Given the description of an element on the screen output the (x, y) to click on. 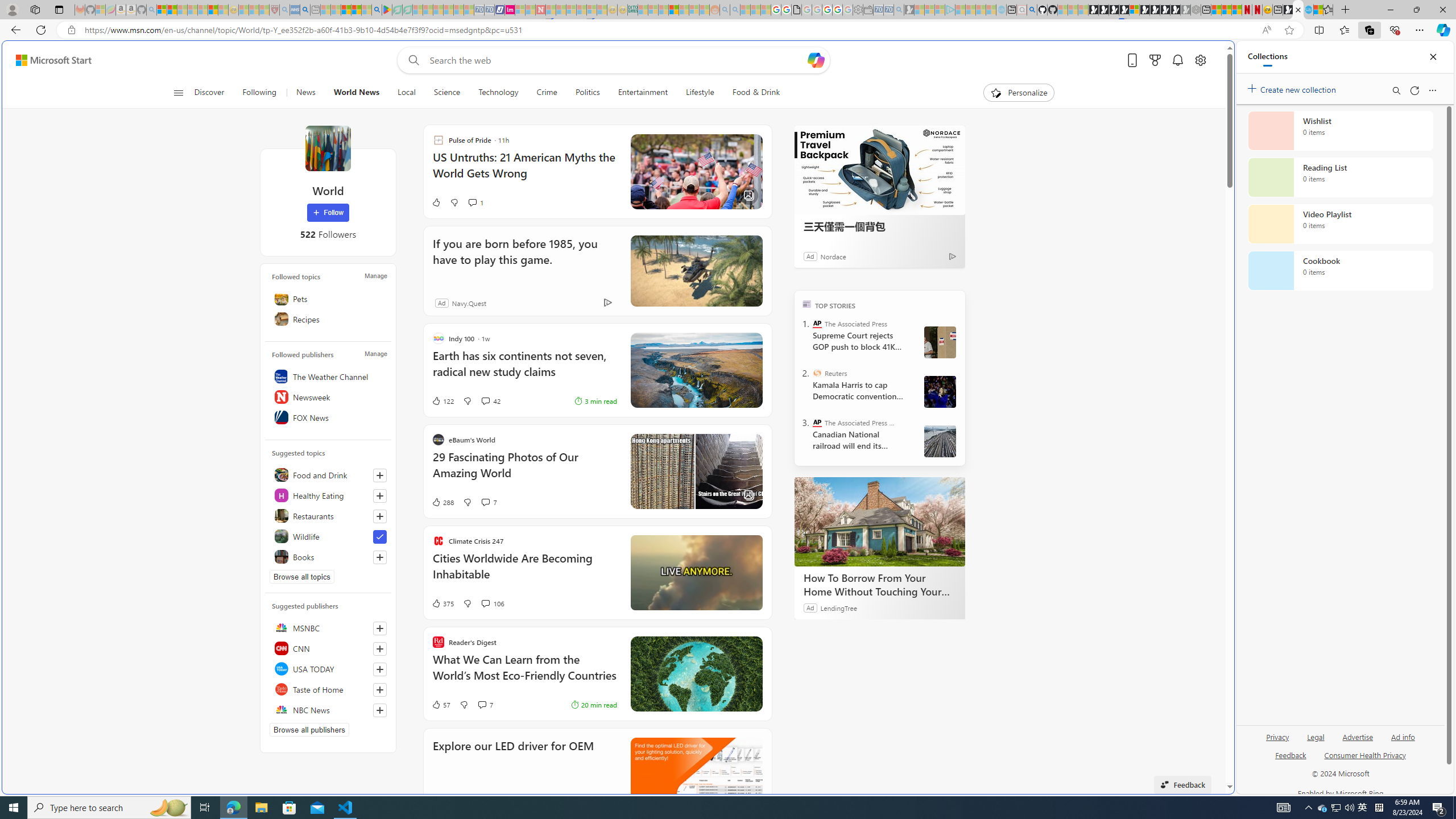
Recipes (327, 318)
View comments 42 Comment (485, 400)
Like (435, 202)
288 Like (442, 502)
Navy.Quest (468, 302)
